Given the description of an element on the screen output the (x, y) to click on. 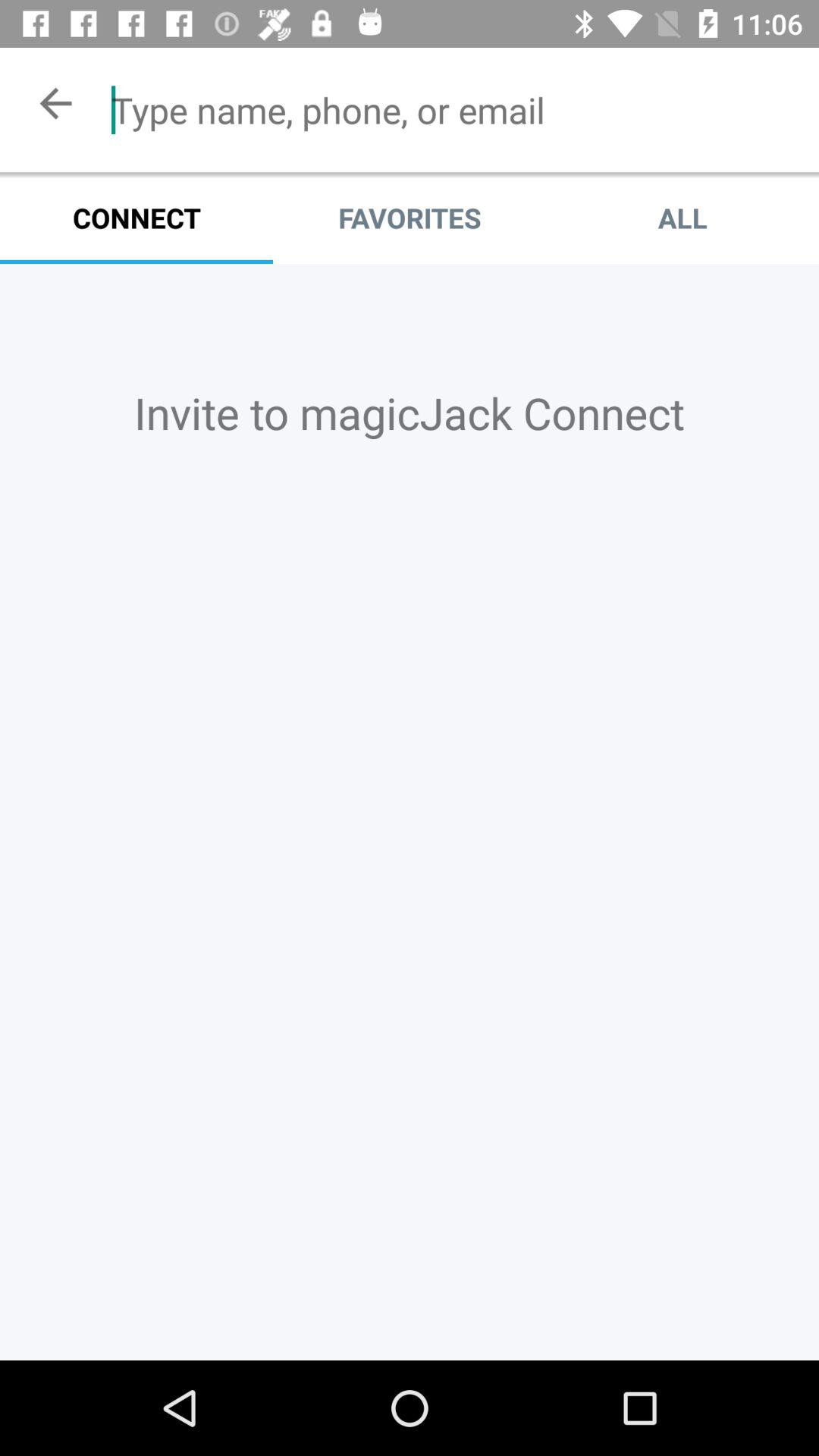
press icon next to all item (409, 217)
